Given the description of an element on the screen output the (x, y) to click on. 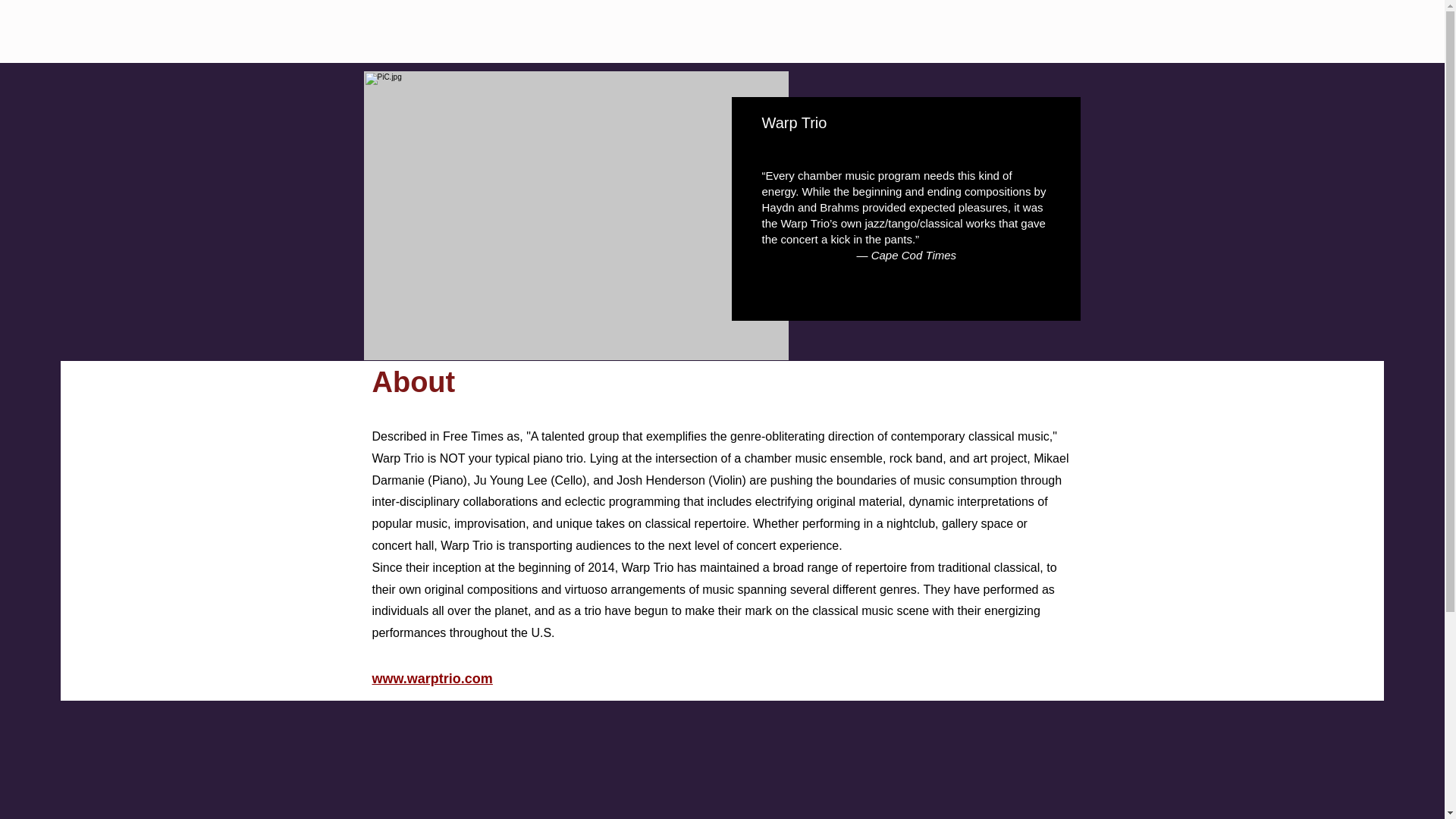
www.warptrio.com (431, 678)
